Given the description of an element on the screen output the (x, y) to click on. 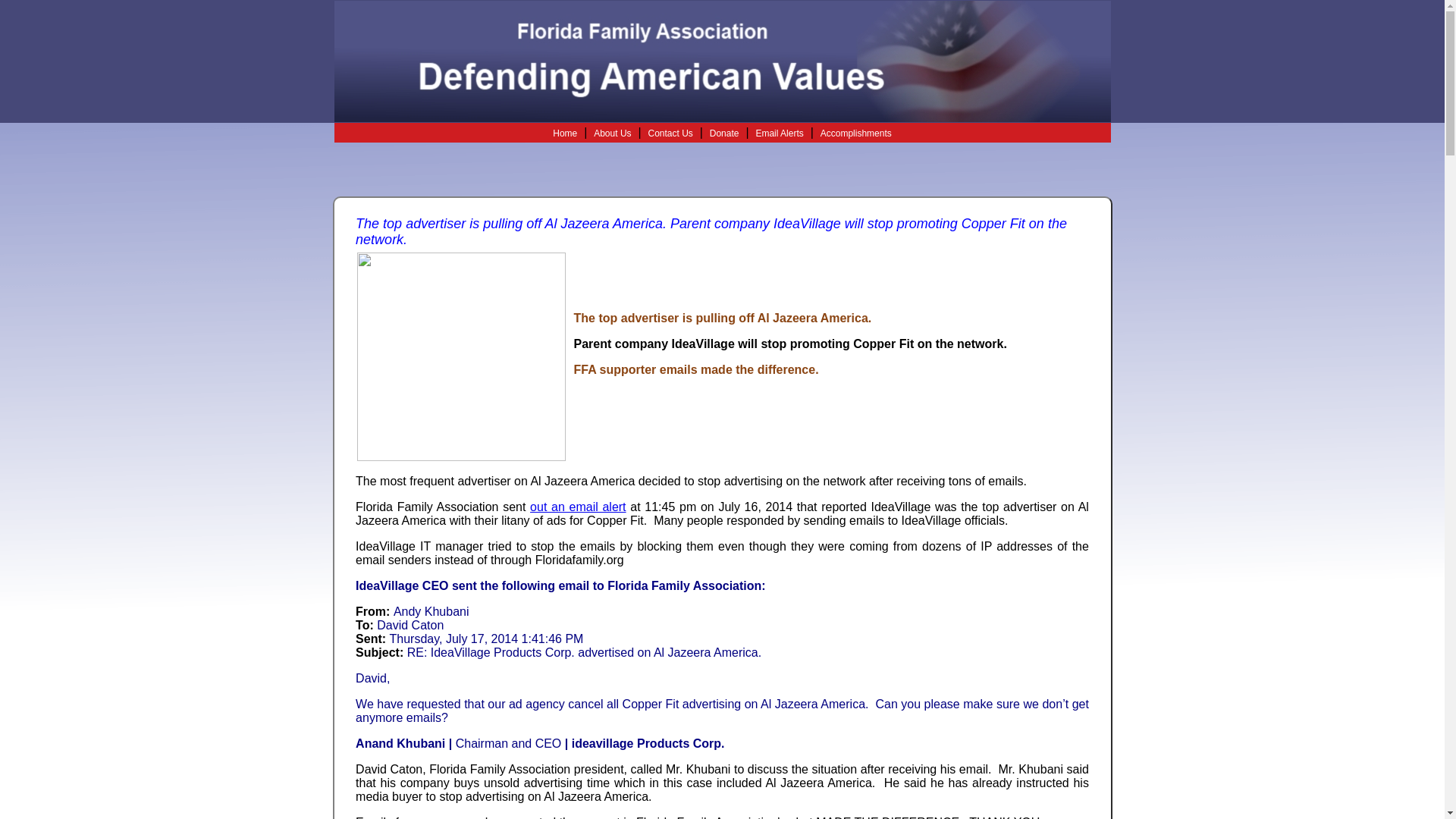
Email Alerts (779, 132)
Home (564, 132)
Accomplishments (856, 132)
About Us (612, 132)
Contact Us (670, 132)
Donate (724, 132)
out an email alert (577, 506)
